Given the description of an element on the screen output the (x, y) to click on. 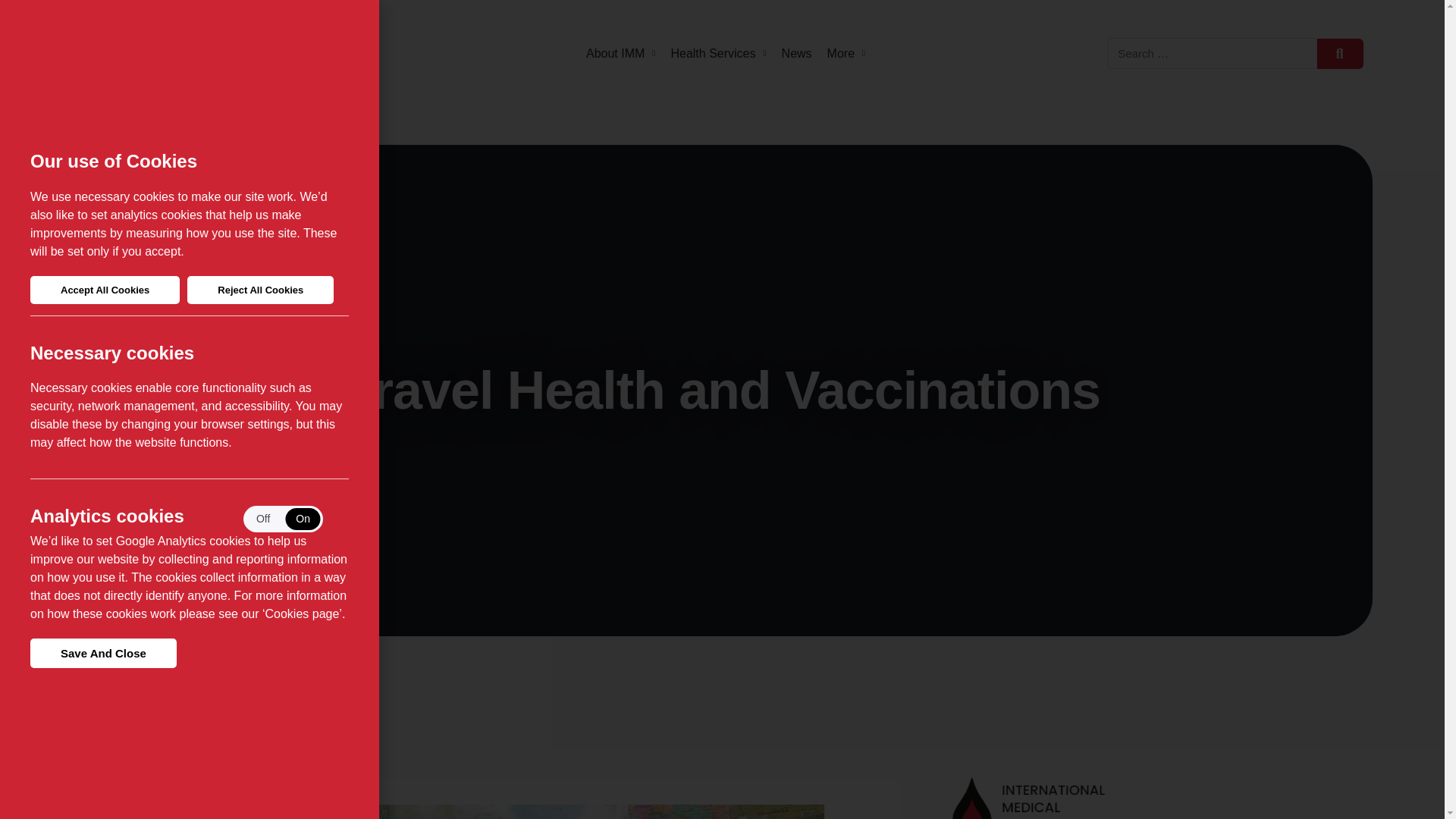
About IMM (620, 53)
Health Services (717, 53)
More (846, 53)
News (796, 53)
